Given the description of an element on the screen output the (x, y) to click on. 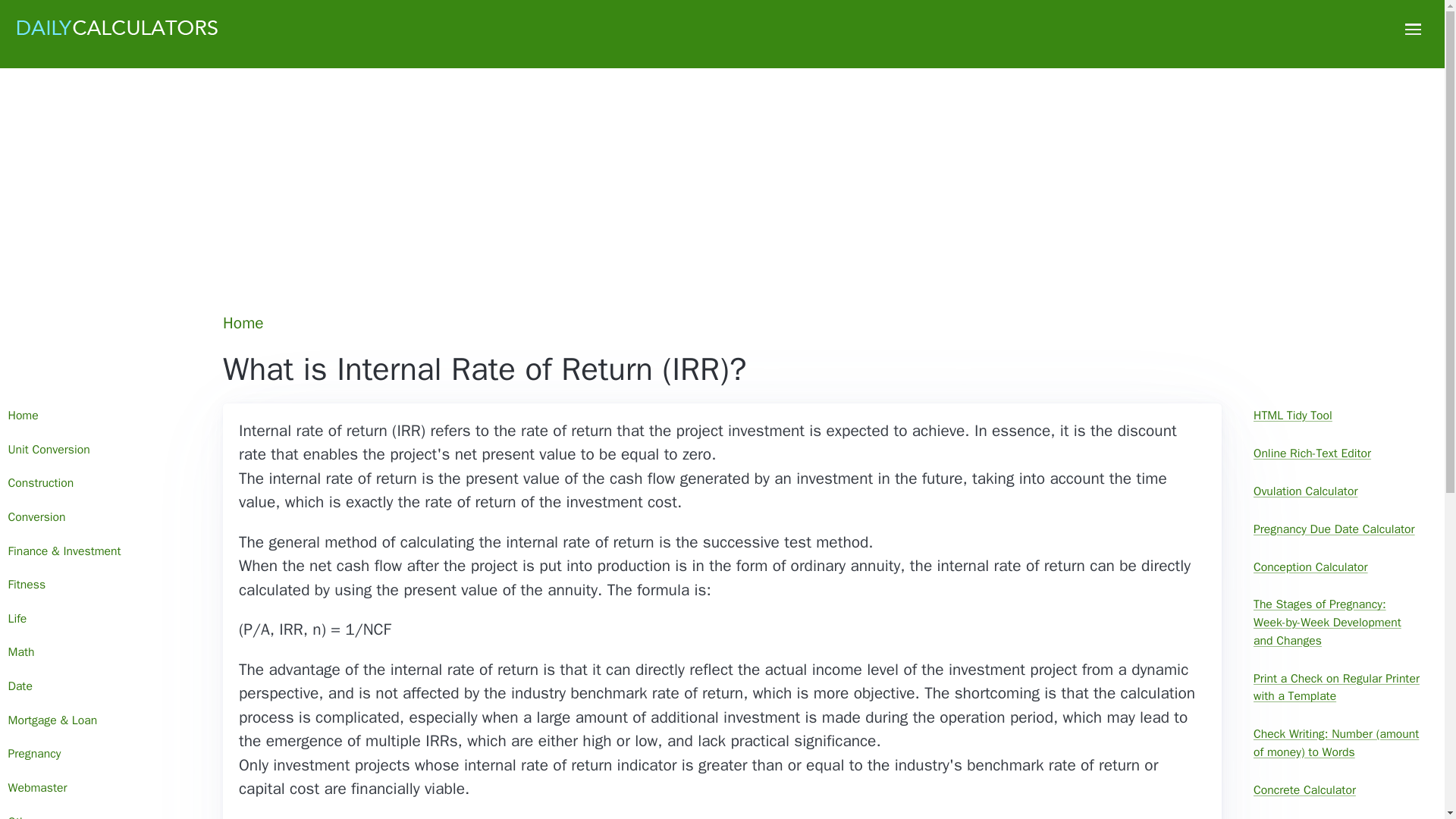
Ovulation Calculator (1337, 492)
Home (99, 415)
Home (243, 323)
Concrete Calculator (1337, 790)
Print a Check on Regular Printer with a Template (1337, 687)
Construction (99, 483)
Conception Calculator (1337, 566)
Pregnancy Due Date Calculator (1337, 529)
Conversion (99, 517)
Math (99, 653)
Date (99, 687)
HTML Tidy Tool (1337, 416)
Life (99, 618)
Others (99, 812)
